Given the description of an element on the screen output the (x, y) to click on. 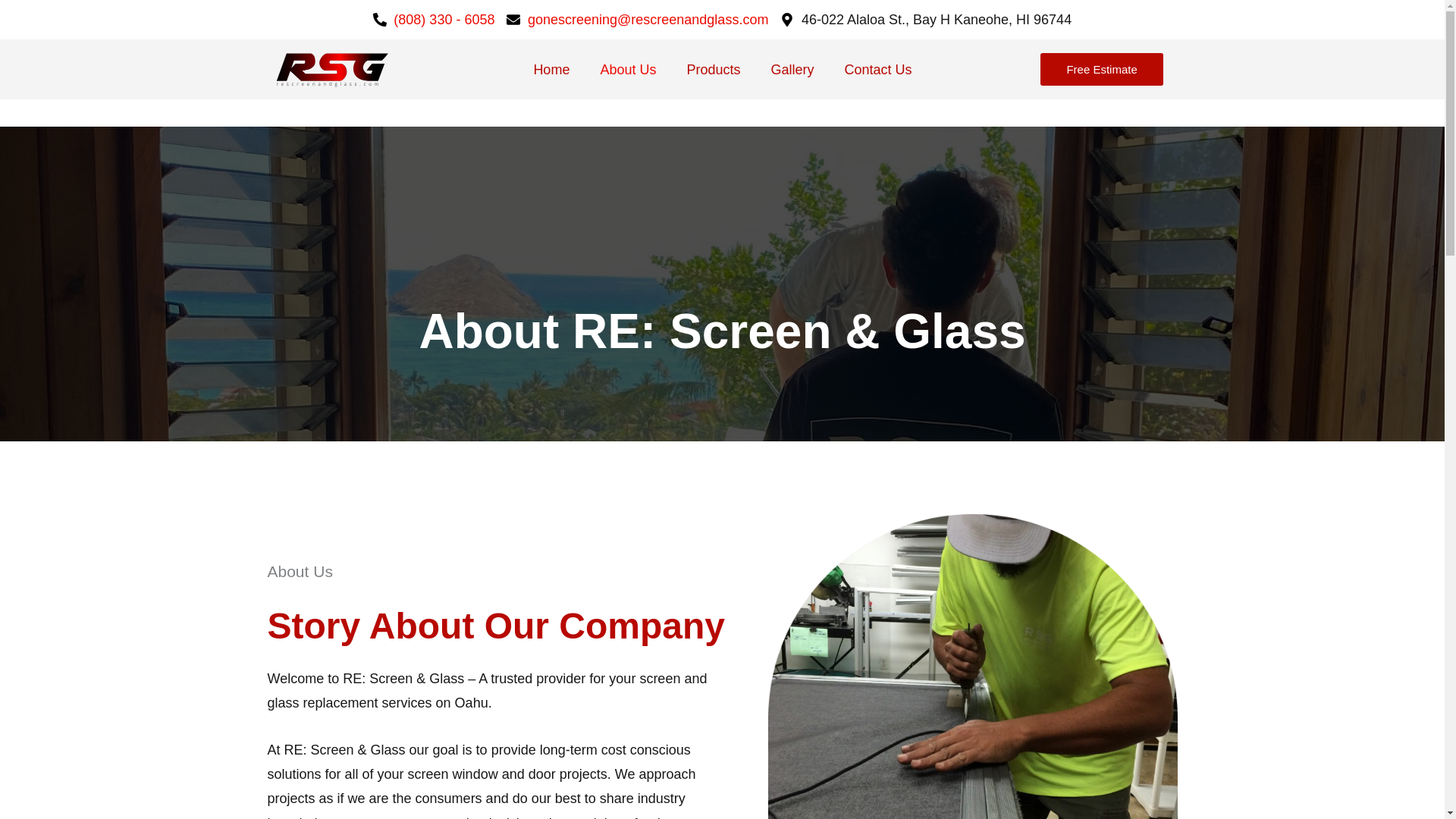
Home (551, 69)
Gallery (791, 69)
About Us (628, 69)
Free Estimate (1101, 69)
Products (713, 69)
Contact Us (878, 69)
